Given the description of an element on the screen output the (x, y) to click on. 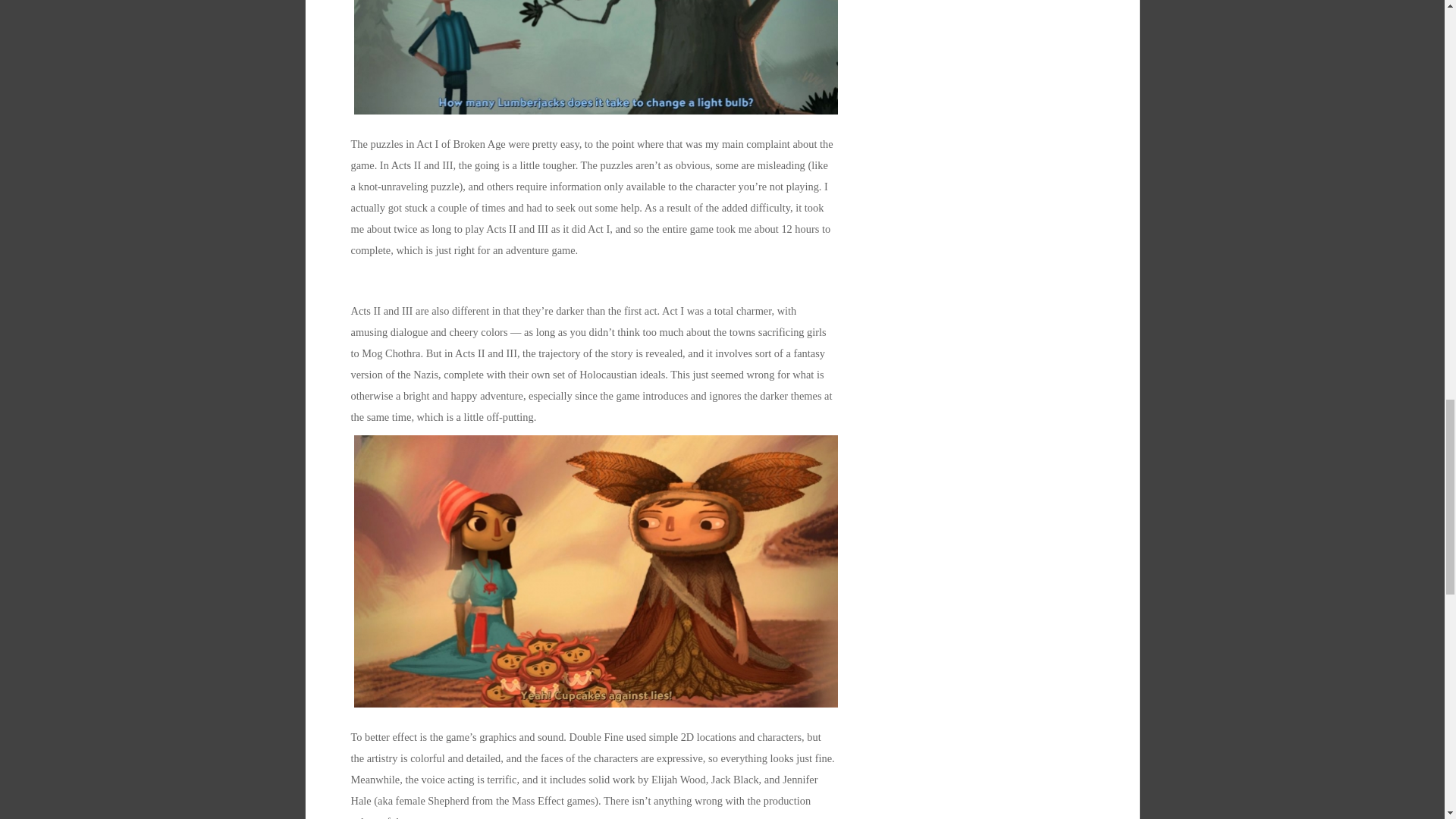
screenshot-08.jpg (595, 58)
